Given the description of an element on the screen output the (x, y) to click on. 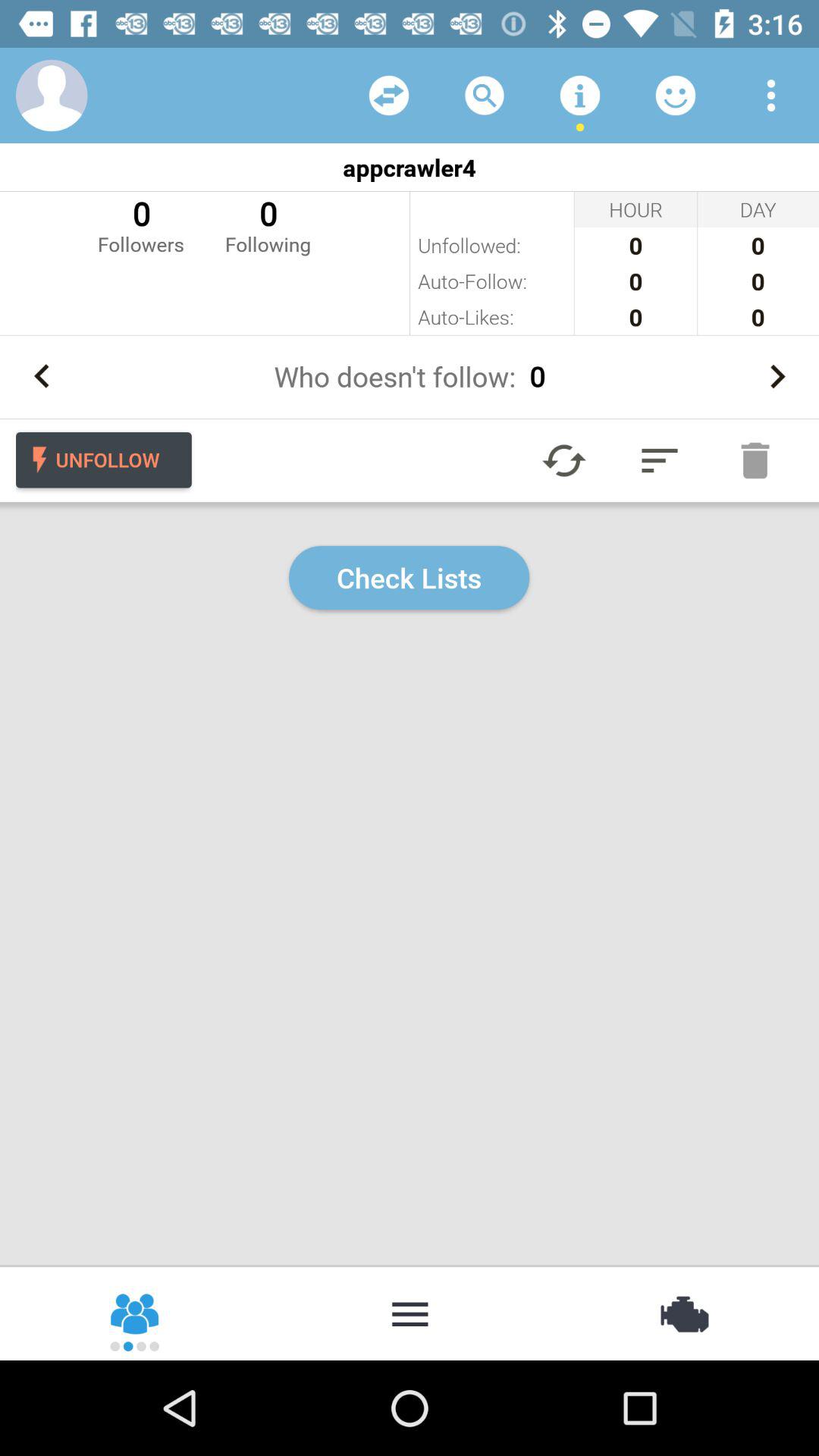
go to profile (51, 95)
